Given the description of an element on the screen output the (x, y) to click on. 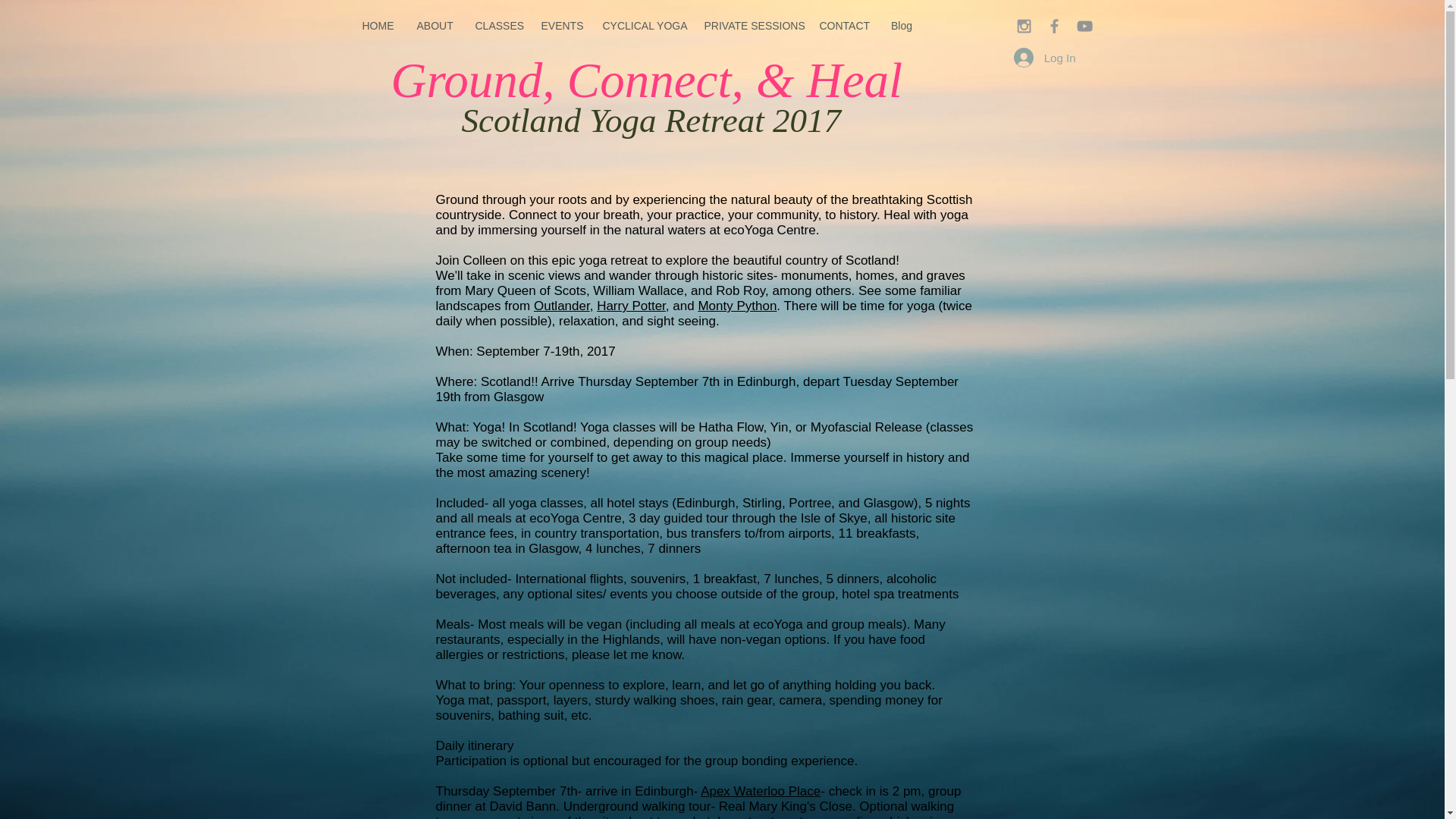
CLASSES (496, 25)
HOME (377, 25)
CYCLICAL YOGA (642, 25)
Blog (901, 25)
Log In (1044, 57)
EVENTS (560, 25)
ABOUT (433, 25)
PRIVATE SESSIONS (750, 25)
CONTACT (843, 25)
Apex Waterloo Place (760, 790)
